Given the description of an element on the screen output the (x, y) to click on. 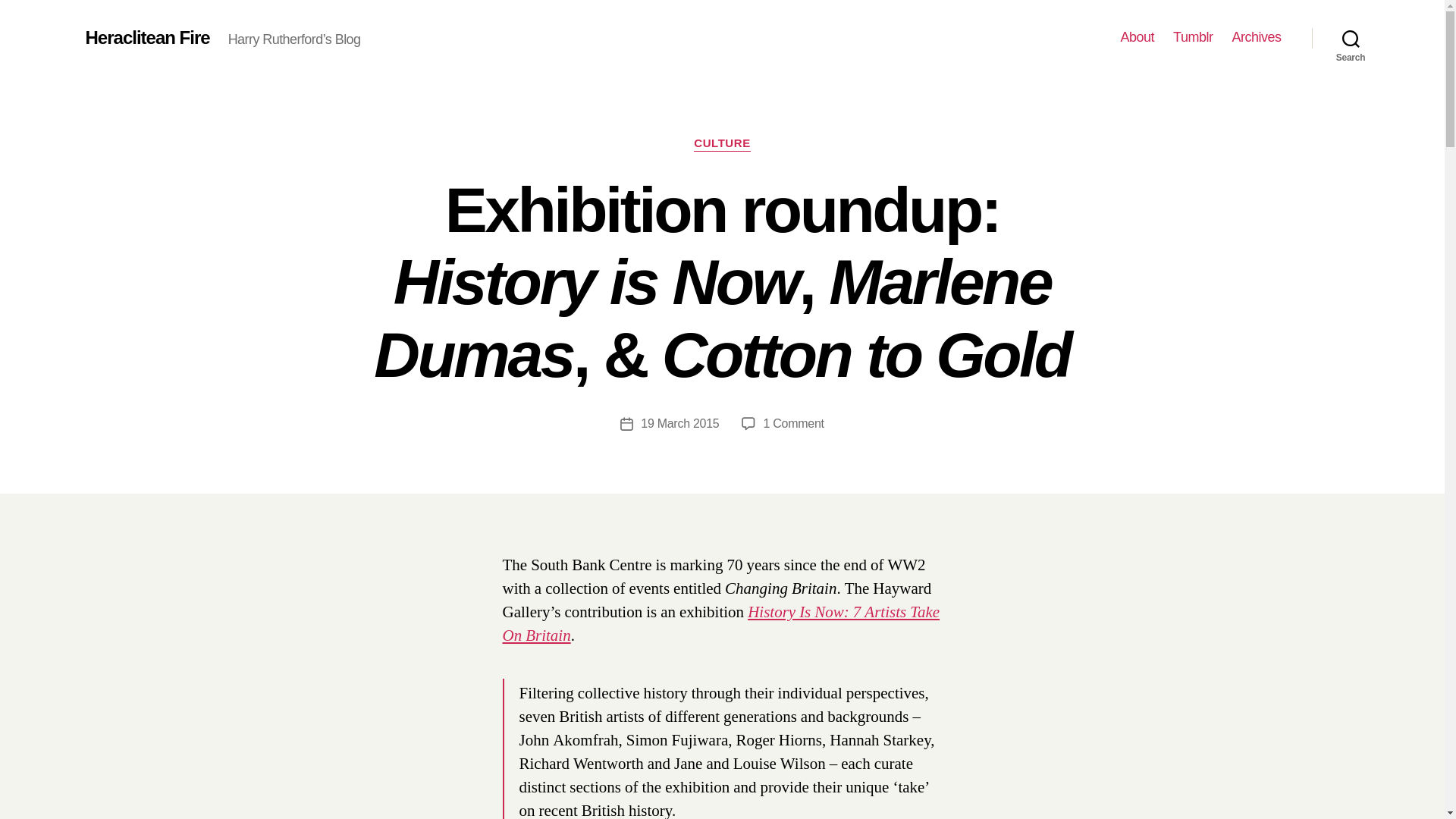
About (1137, 37)
History Is Now: 7 Artists Take On Britain (720, 623)
19 March 2015 (679, 422)
Heraclitean Fire (146, 37)
Search (1350, 37)
Tumblr (1192, 37)
CULTURE (721, 143)
Archives (1256, 37)
